Given the description of an element on the screen output the (x, y) to click on. 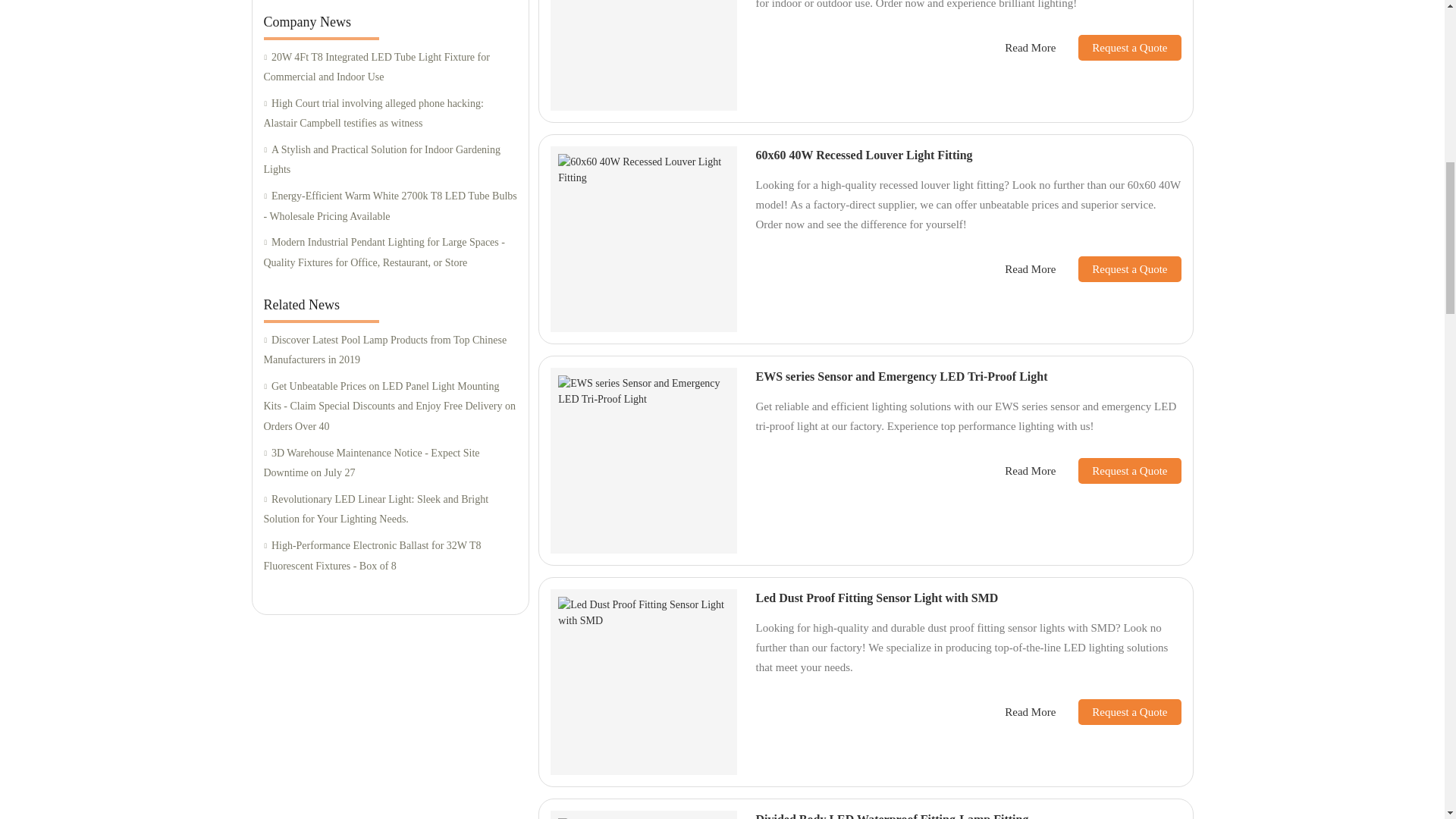
A Stylish and Practical Solution for Indoor Gardening Lights (389, 160)
